Given the description of an element on the screen output the (x, y) to click on. 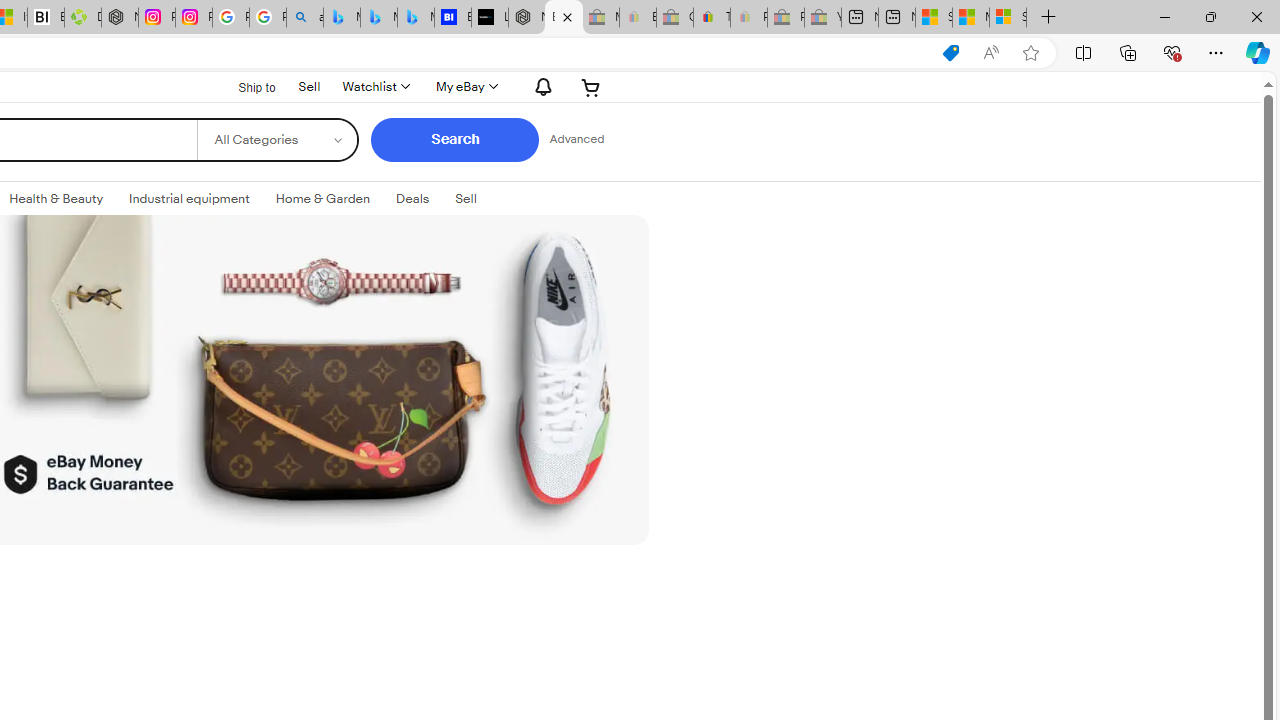
Microsoft Bing Travel - Flights from Hong Kong to Bangkok (341, 17)
Watchlist (374, 86)
Select a category for search (277, 139)
Payments Terms of Use | eBay.com - Sleeping (748, 17)
Expand Cart (591, 86)
WatchlistExpand Watch List (374, 86)
Home & Garden (323, 198)
